Given the description of an element on the screen output the (x, y) to click on. 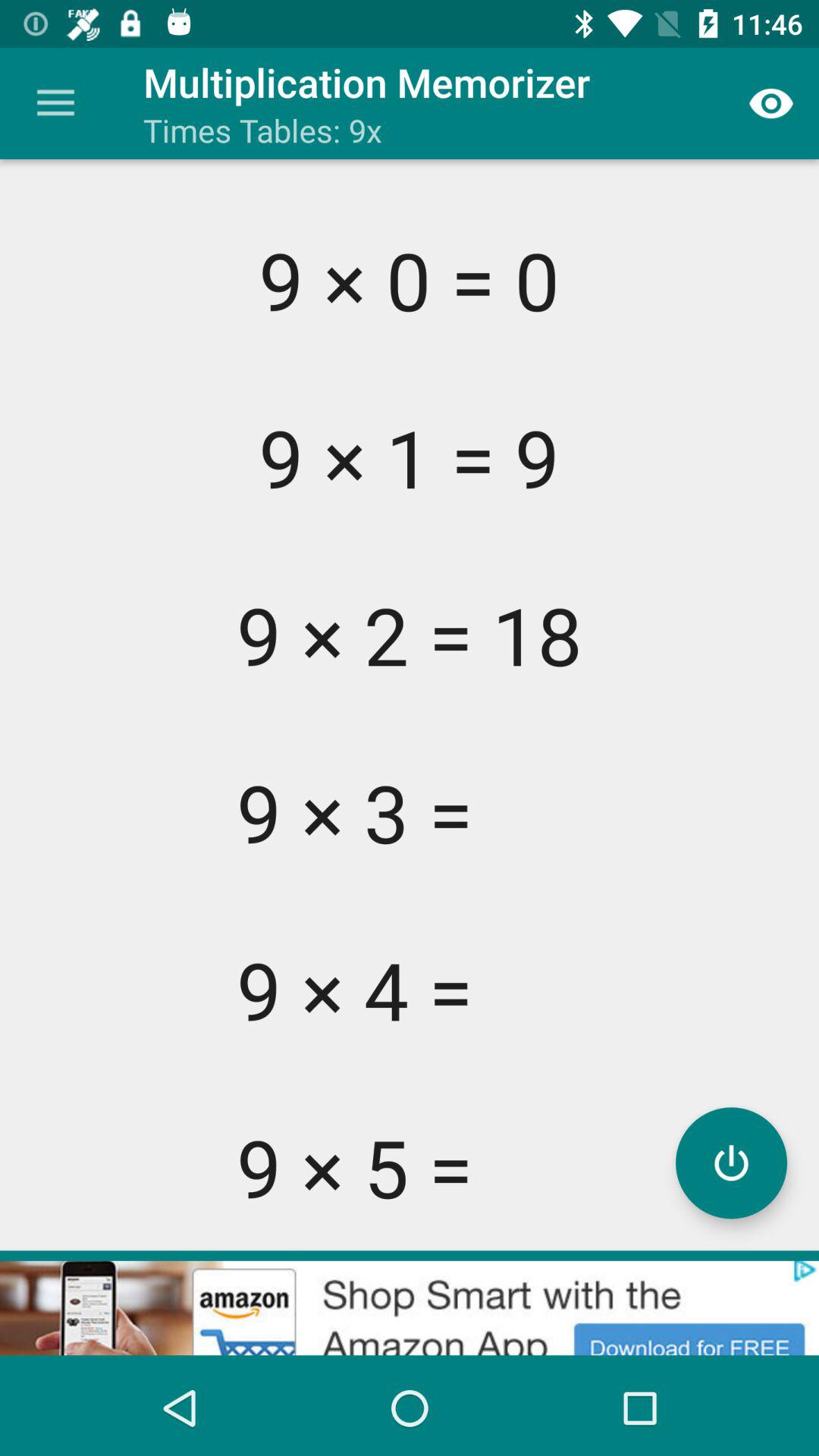
power option (731, 1162)
